Given the description of an element on the screen output the (x, y) to click on. 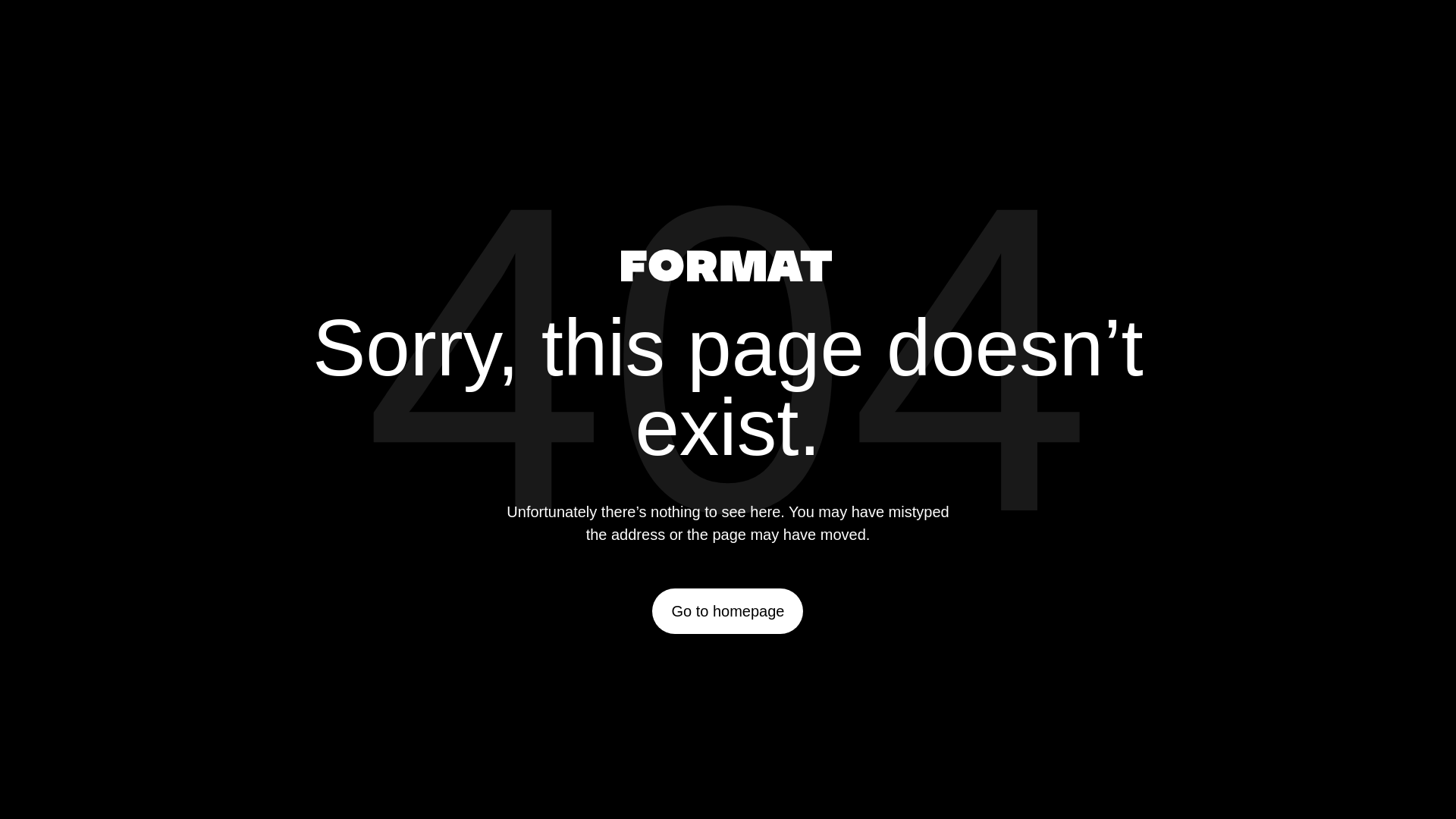
Go to homepage Element type: text (727, 610)
